Given the description of an element on the screen output the (x, y) to click on. 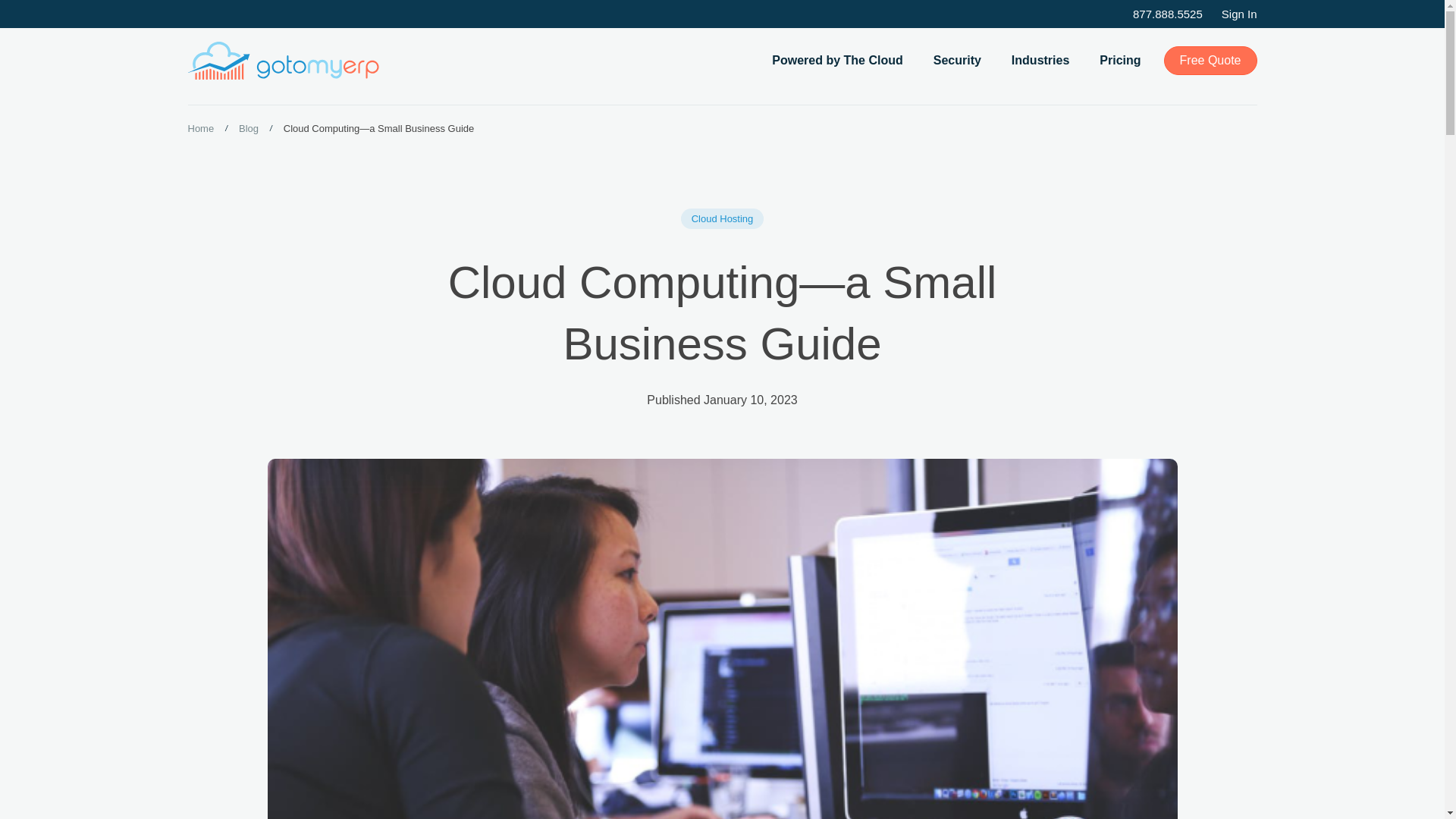
Powered by The Cloud (836, 60)
Sign In (1239, 13)
Home (200, 128)
Pricing (1119, 60)
Security (957, 60)
Industries (1039, 60)
877.888.5525 (1167, 13)
Blog (248, 128)
Free Quote (1210, 60)
